Given the description of an element on the screen output the (x, y) to click on. 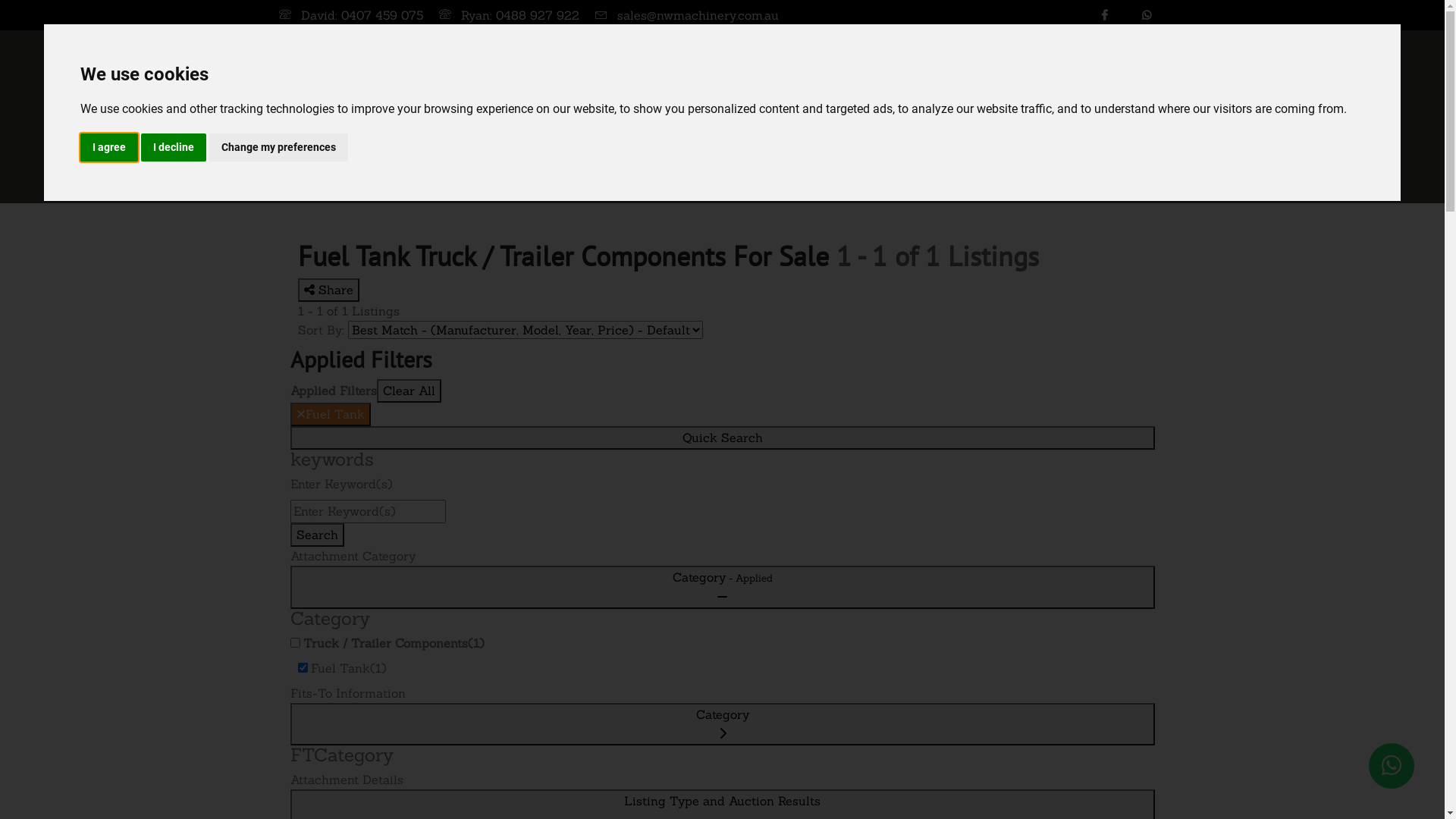
HOME Element type: text (540, 116)
ABOUT Element type: text (977, 116)
ATTACHMENTS Element type: text (714, 116)
Quick Search Element type: text (721, 437)
Share Element type: text (327, 289)
Search Element type: text (316, 534)
CONTACT Element type: text (1144, 116)
Change my preferences Element type: text (278, 147)
Category - Applied Element type: text (721, 586)
FOR HIRE Element type: text (906, 116)
sales@nwmachinery.com.au Element type: text (697, 14)
Category Element type: text (721, 723)
Fuel Tank Element type: text (329, 414)
Clear All Element type: text (408, 390)
EQUIPMENT Element type: text (617, 116)
I agree Element type: text (109, 147)
I decline Element type: text (173, 147)
CONDITIONS Element type: text (1057, 116)
Ryan: 0488 927 922 Element type: text (520, 14)
COMET TANKS Element type: text (815, 116)
David: 0407 459 075 Element type: text (361, 14)
